Given the description of an element on the screen output the (x, y) to click on. 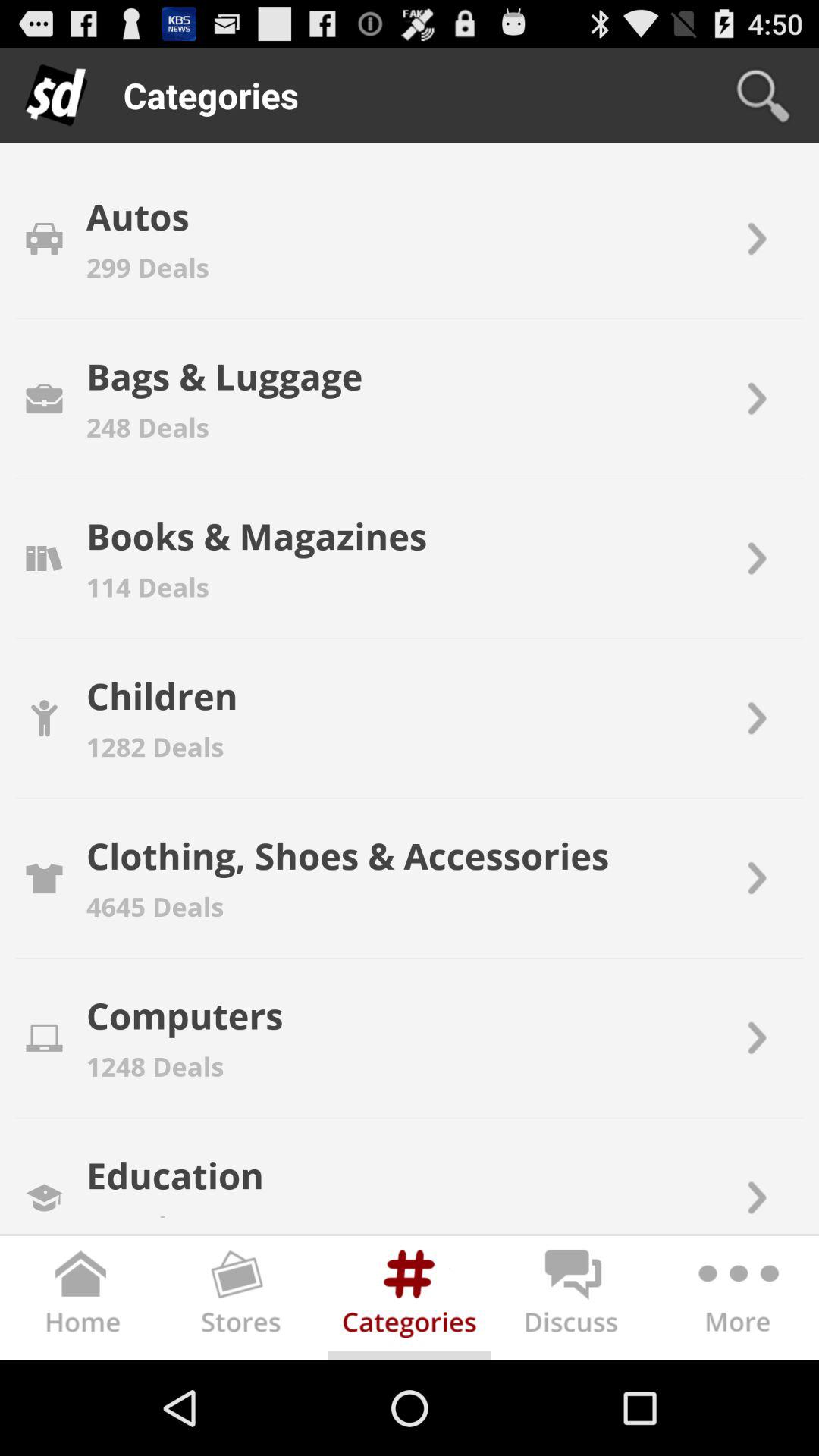
tap the bags & luggage (224, 375)
